Given the description of an element on the screen output the (x, y) to click on. 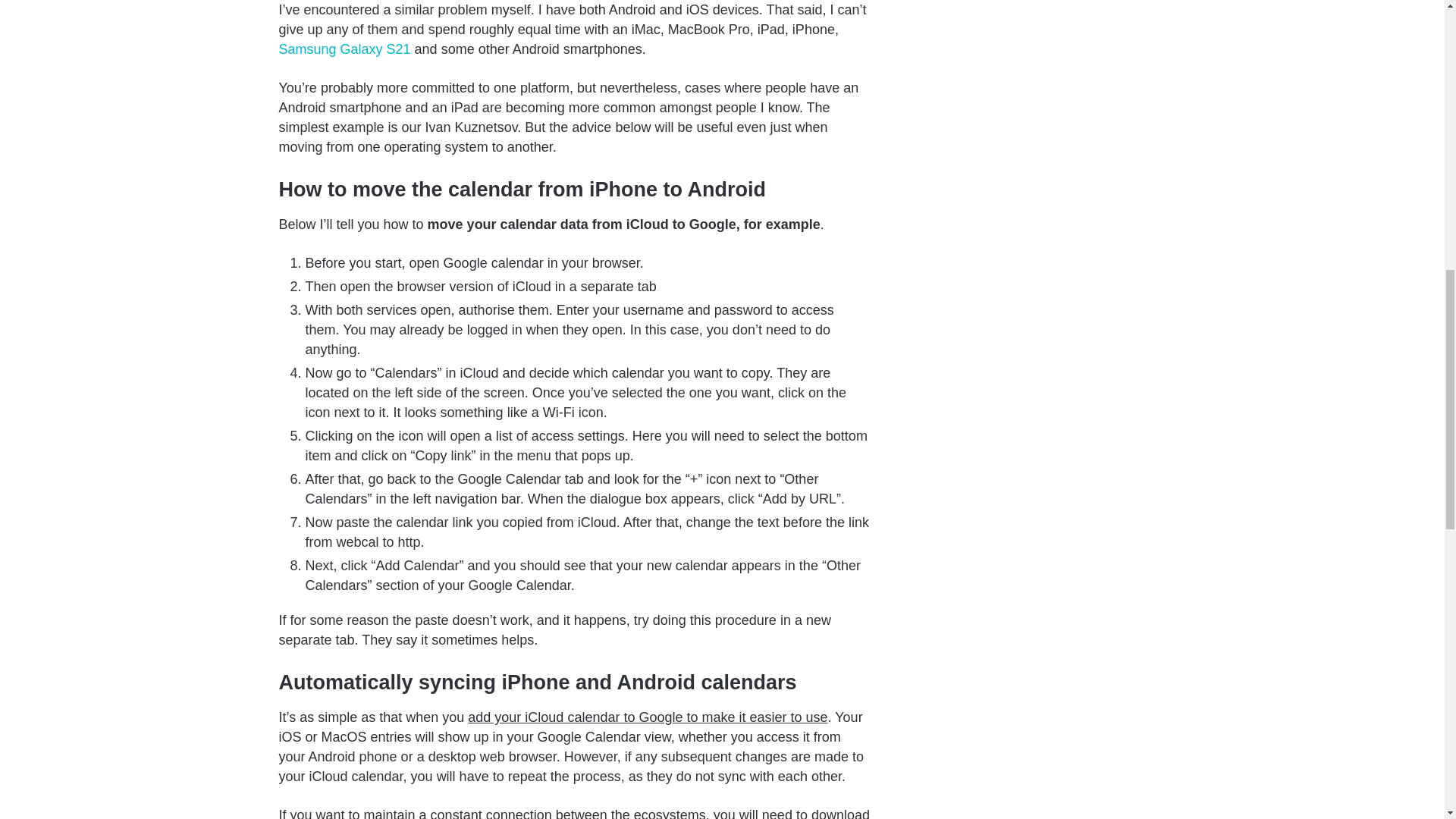
Samsung Galaxy S21 (344, 48)
